Given the description of an element on the screen output the (x, y) to click on. 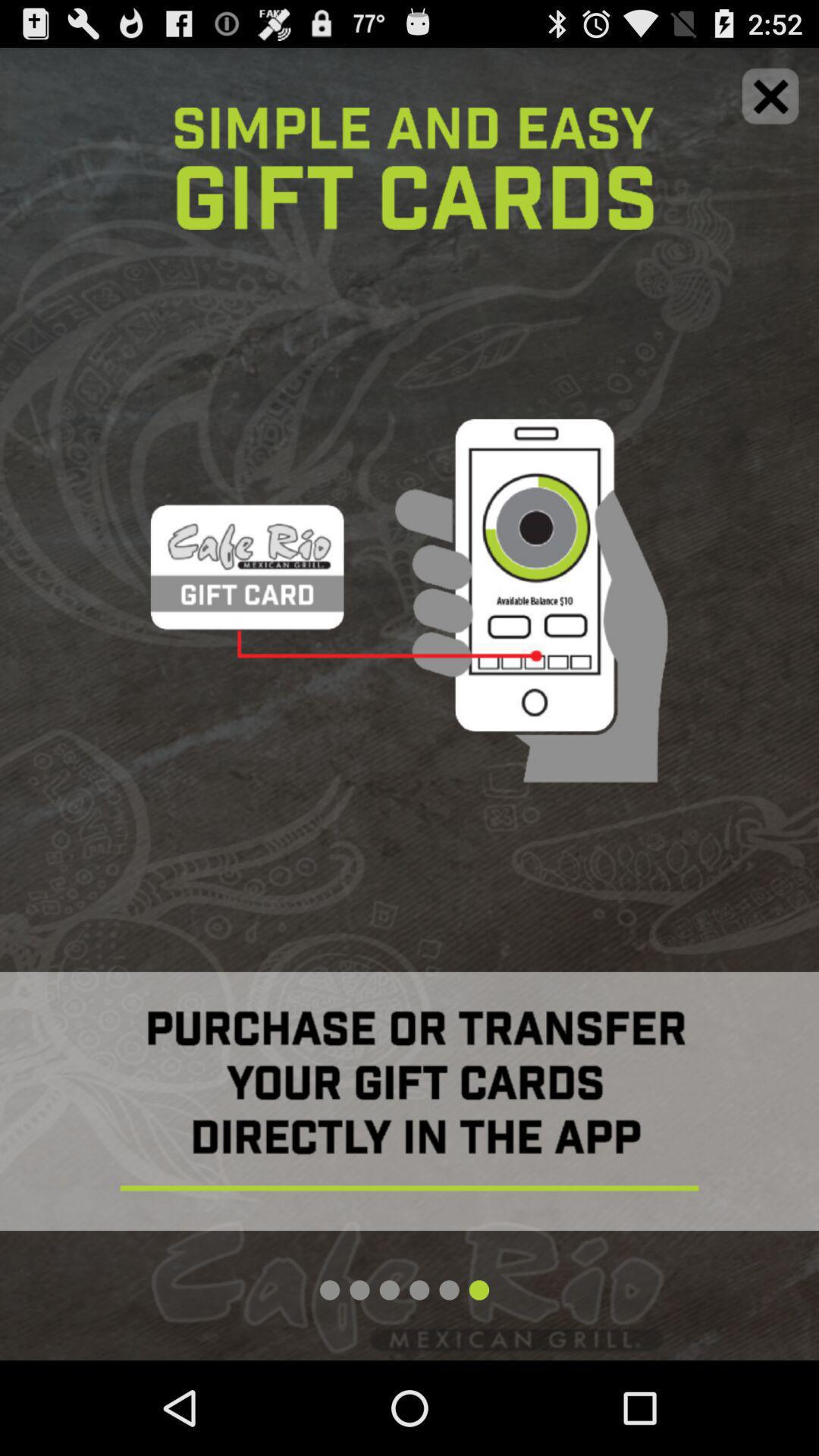
cancel (770, 95)
